Given the description of an element on the screen output the (x, y) to click on. 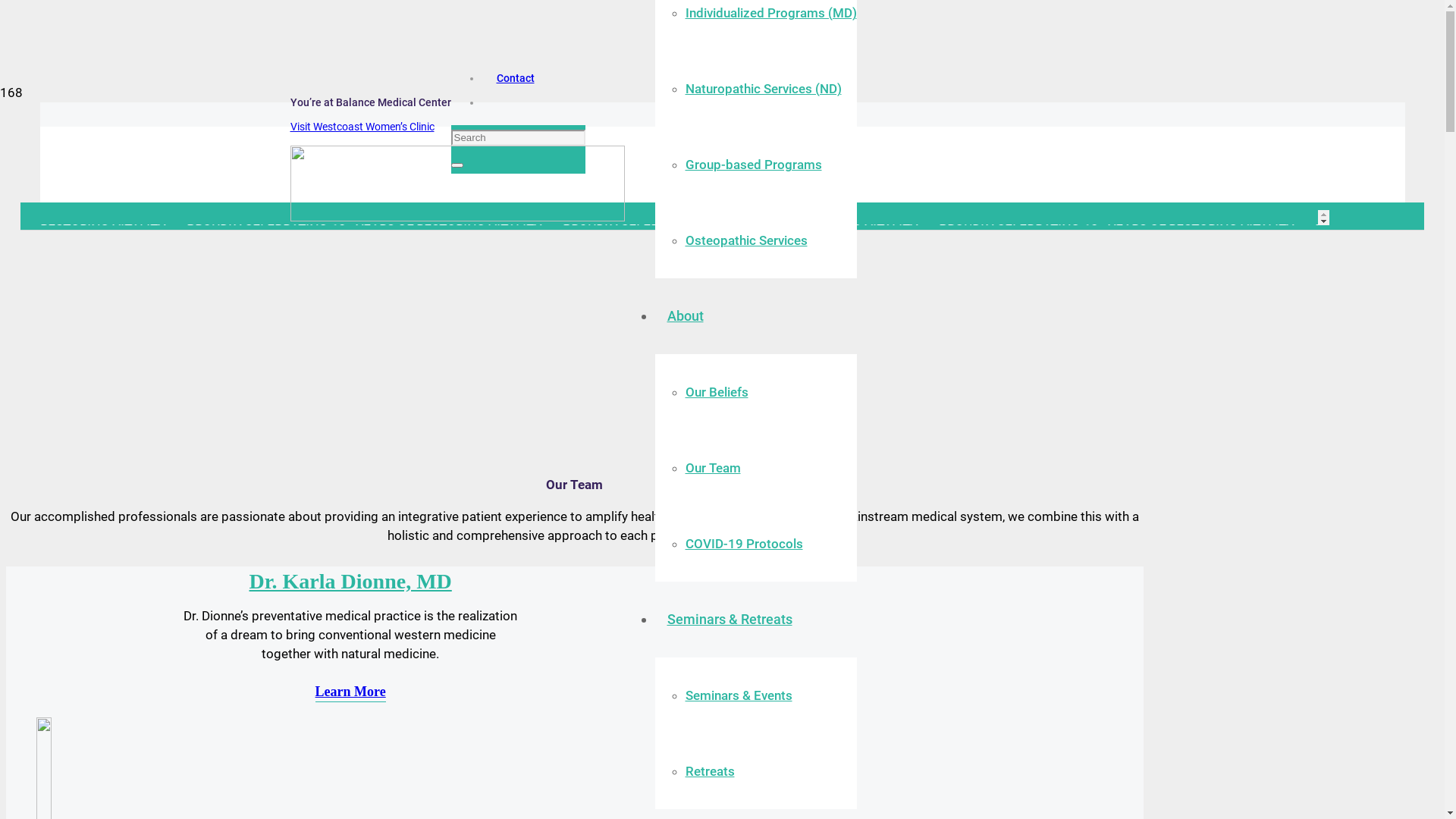
Dr. Karla Dionne, MD Element type: text (349, 581)
Group-based Programs Element type: text (753, 164)
Seminars & Events Element type: text (738, 694)
Retreats Element type: text (709, 770)
Our Team Element type: text (712, 467)
Individualized Programs (MD) Element type: text (770, 12)
Naturopathic Services (ND) Element type: text (763, 88)
COVID-19 Protocols Element type: text (744, 543)
Learn More Element type: text (350, 691)
Seminars & Retreats Element type: text (729, 619)
Contact Element type: text (514, 78)
Our Beliefs Element type: text (716, 391)
Osteopathic Services Element type: text (746, 239)
About Element type: text (685, 315)
